Given the description of an element on the screen output the (x, y) to click on. 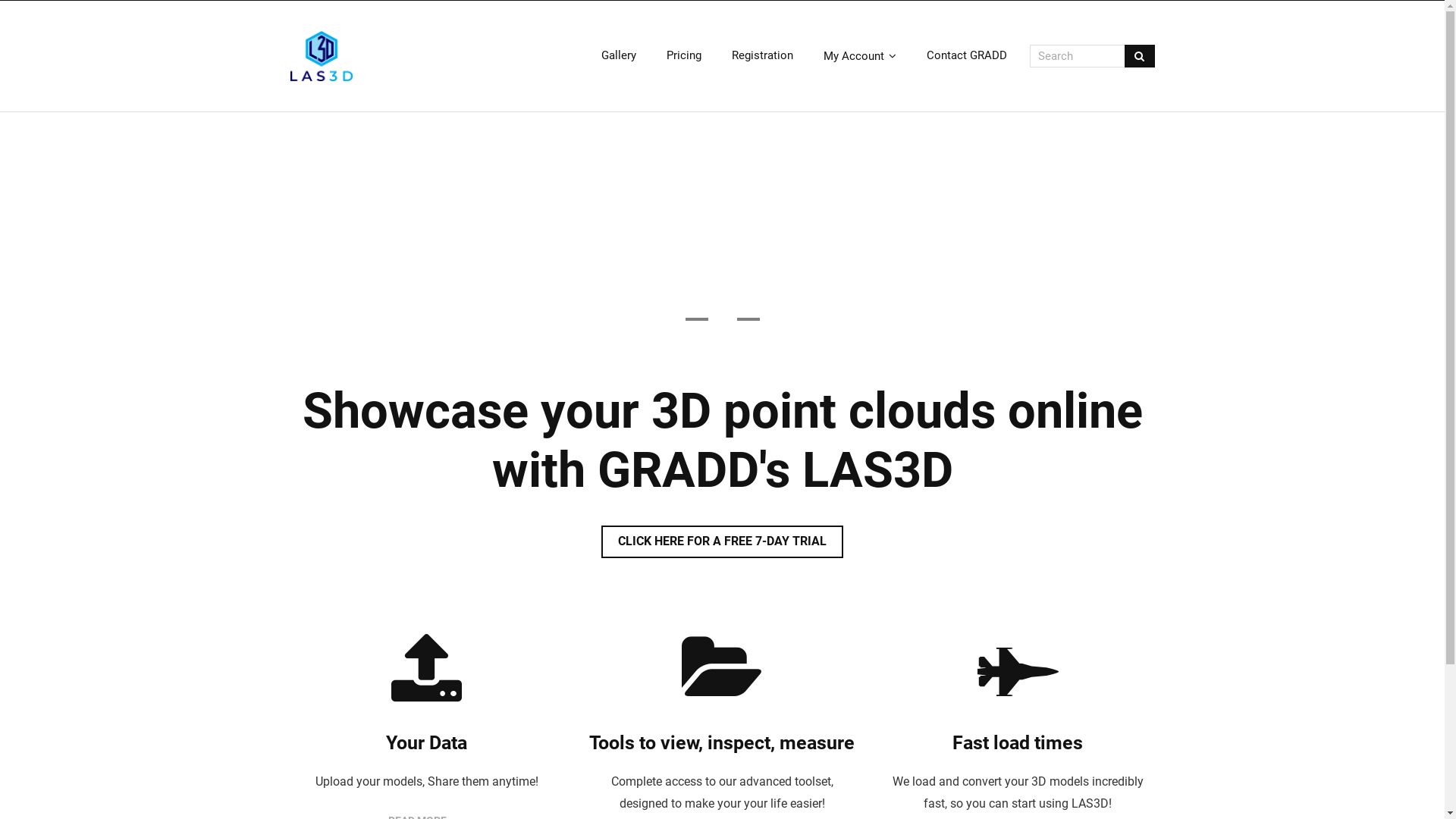
CLICK HERE FOR A FREE 7-DAY TRIAL Element type: text (722, 541)
Registration Element type: text (761, 55)
Gallery Element type: text (617, 55)
Contact GRADD Element type: text (966, 55)
Search Element type: text (42, 19)
Read More Element type: text (721, 254)
3 Element type: text (748, 318)
2 Element type: text (722, 318)
Pricing Element type: text (682, 55)
1 Element type: text (696, 318)
My Account Element type: text (859, 55)
